Given the description of an element on the screen output the (x, y) to click on. 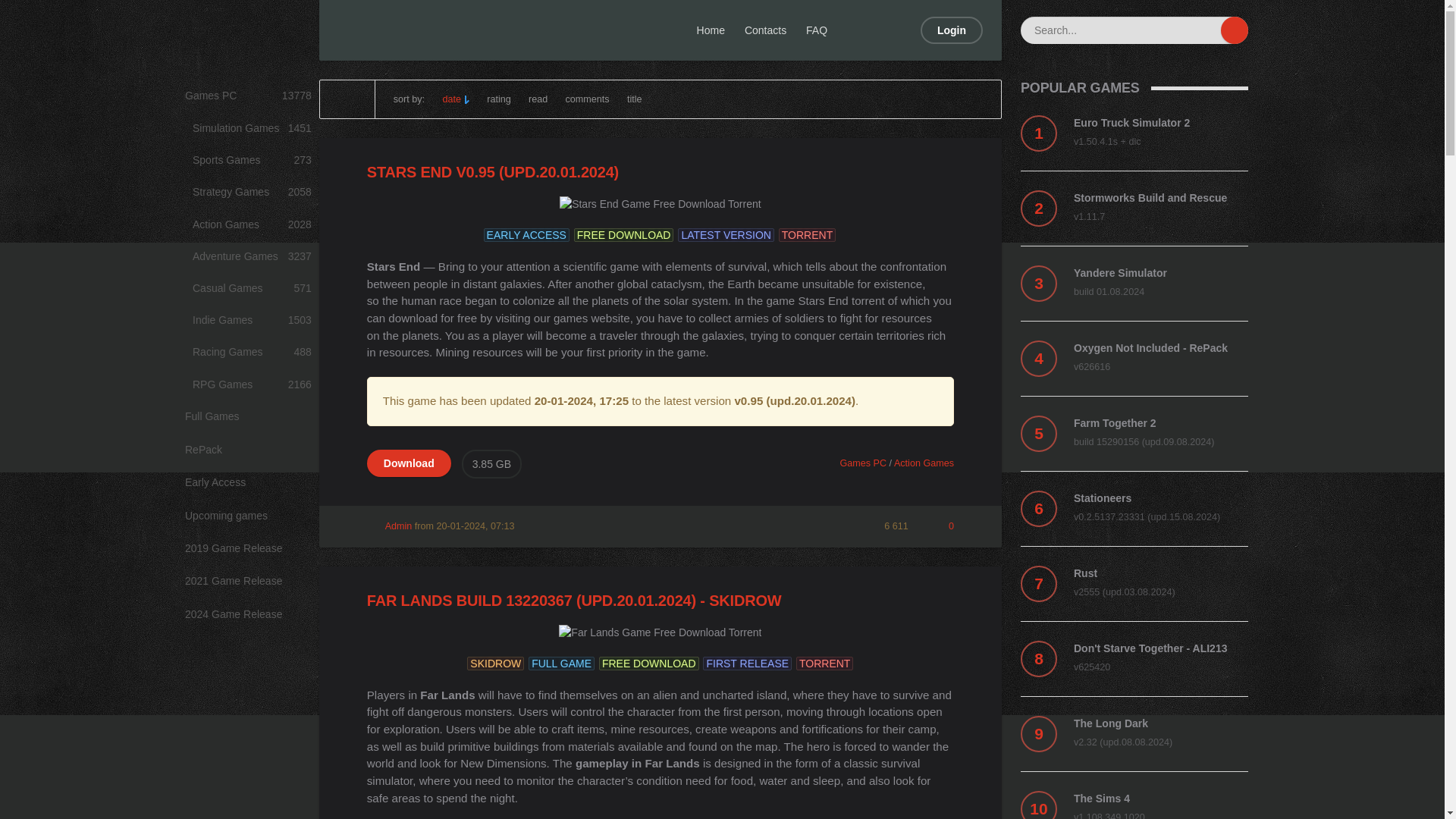
title (634, 99)
date (455, 99)
Full Games (247, 416)
Views: 6 611 (887, 525)
Contacts (765, 30)
2019 Game Release (247, 548)
comments (251, 160)
Extended Search (588, 99)
2021 Game Release (1207, 30)
